Given the description of an element on the screen output the (x, y) to click on. 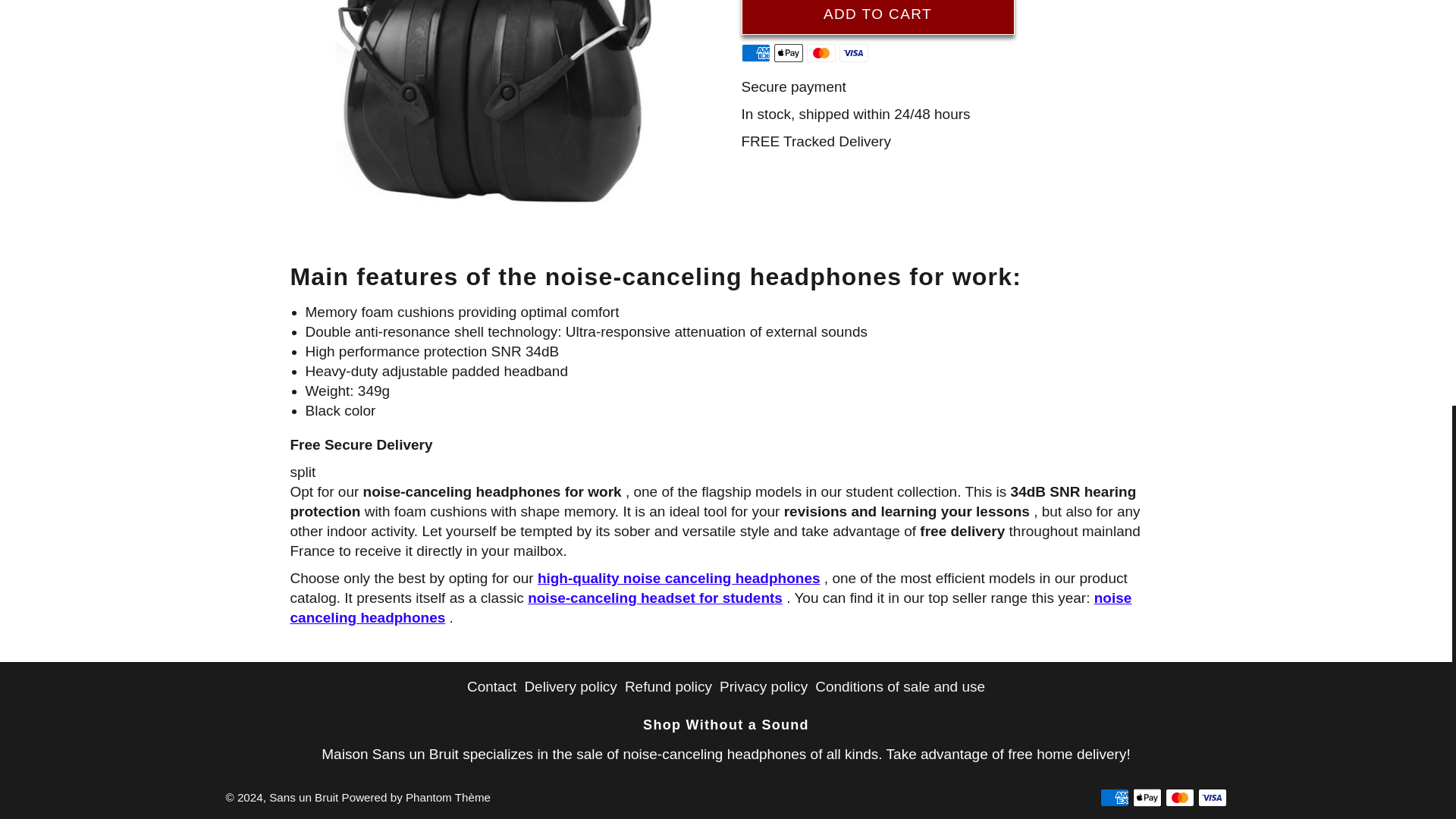
noise canceling headphones (710, 607)
Mastercard (820, 53)
student noise canceling headphones (655, 597)
casque-anti-bruit-pour-travailler (503, 113)
Visa (852, 53)
high quality noise canceling headphones (679, 578)
Sans un Bruit (303, 797)
American Express (755, 53)
Apple Pay (787, 53)
